Given the description of an element on the screen output the (x, y) to click on. 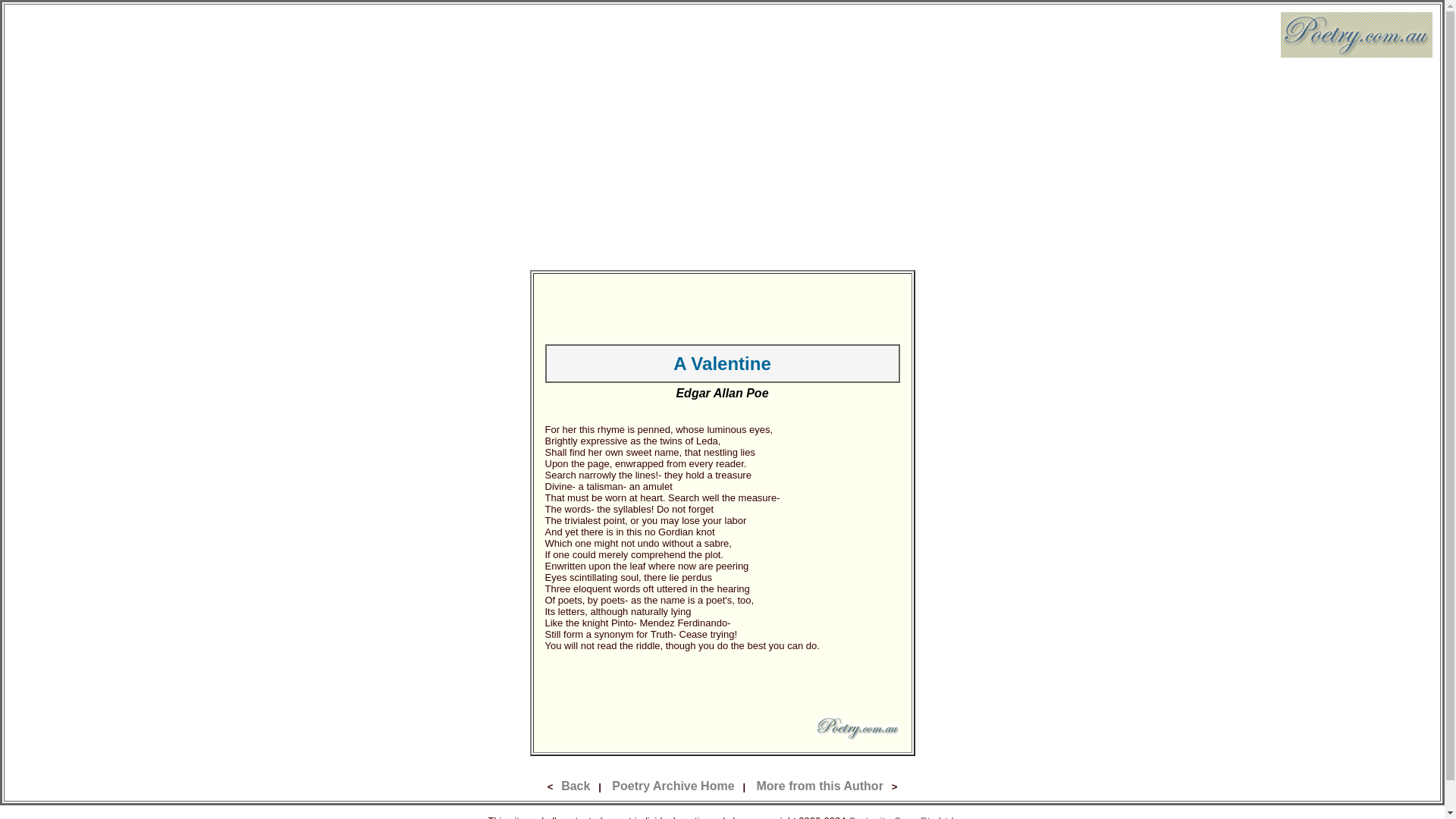
Advertisement (721, 307)
Curiosity Cave Pty Ltd (900, 816)
Poetry Archive Home (672, 785)
More from this Author (818, 785)
Back (574, 785)
Advertisement (721, 683)
